Given the description of an element on the screen output the (x, y) to click on. 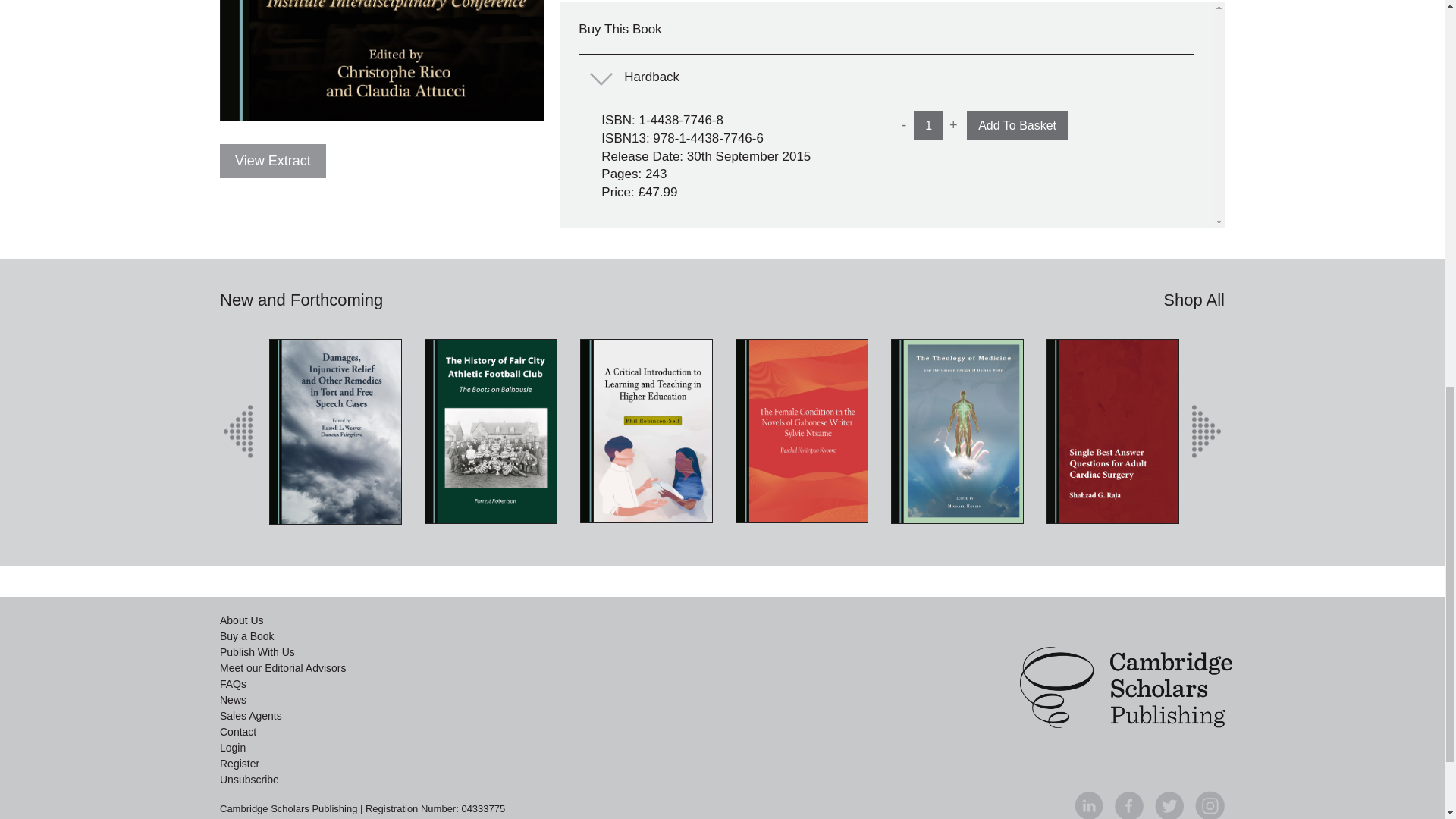
Add To Basket (1016, 125)
1 (928, 125)
